Given the description of an element on the screen output the (x, y) to click on. 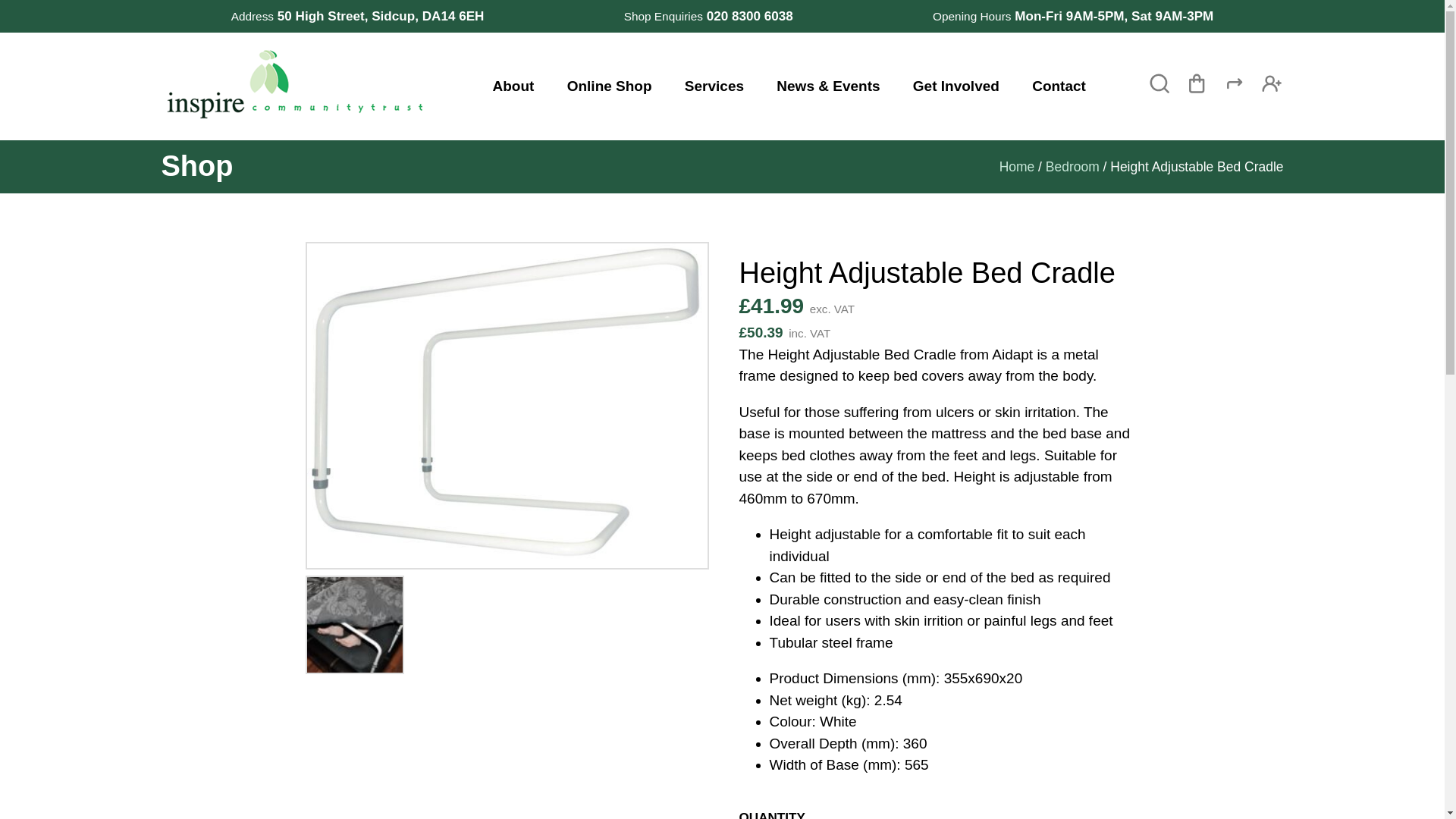
About (513, 85)
Checkout (1234, 89)
Search (1159, 84)
Basket (1196, 89)
Services (714, 85)
Search (1159, 84)
Bedroom (1072, 166)
020 8300 6038 (749, 16)
Basket (1196, 89)
vy440 (505, 405)
Contact (1059, 85)
Online Shop (609, 85)
Home (1016, 166)
Checkout (1234, 89)
Get Involved (955, 85)
